Given the description of an element on the screen output the (x, y) to click on. 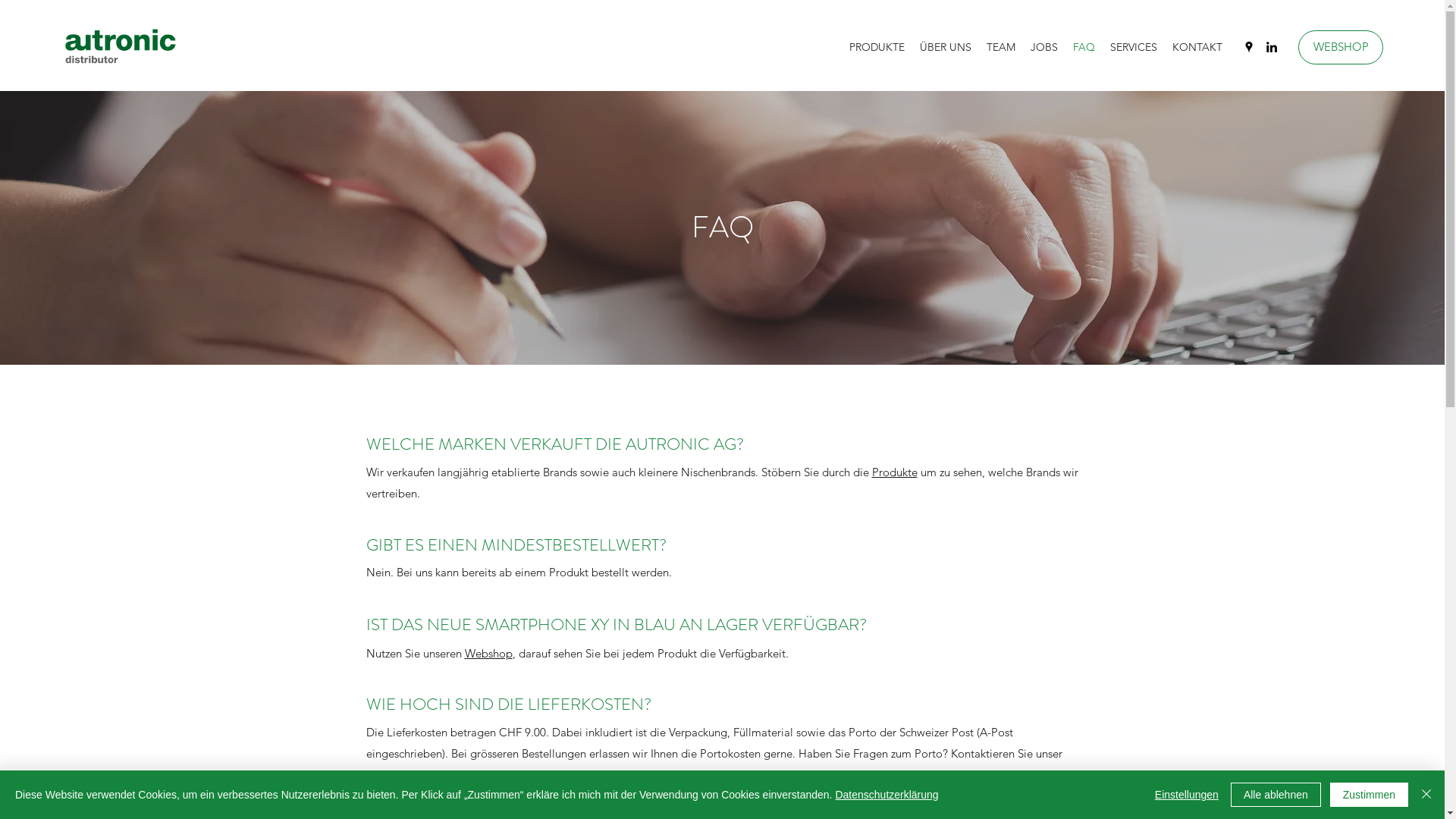
Sales Team Element type: text (393, 774)
TEAM Element type: text (1000, 46)
FAQ Element type: text (1083, 46)
Alle ablehnen Element type: text (1275, 794)
SERVICES Element type: text (1133, 46)
KONTAKT Element type: text (1197, 46)
JOBS Element type: text (1043, 46)
WEBSHOP Element type: text (1340, 47)
Produkte Element type: text (894, 471)
PRODUKTE Element type: text (876, 46)
Webshop Element type: text (487, 653)
Zustimmen Element type: text (1369, 794)
